Given the description of an element on the screen output the (x, y) to click on. 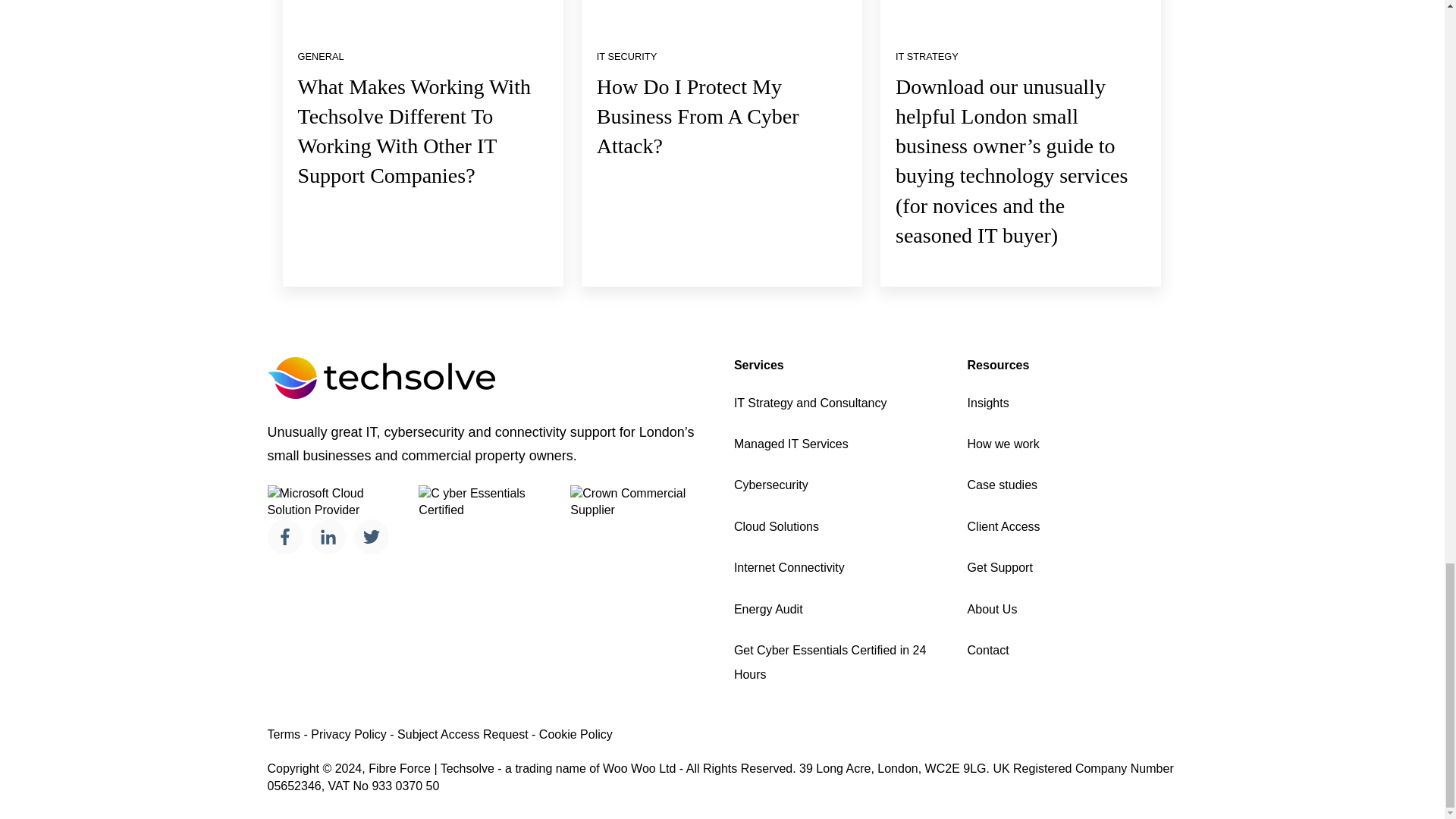
Crown Commercial Supplier (640, 502)
Techsolve logo (380, 377)
C yber Essentials Certified (489, 502)
Microsoft Cloud Solution Provider (336, 502)
